Given the description of an element on the screen output the (x, y) to click on. 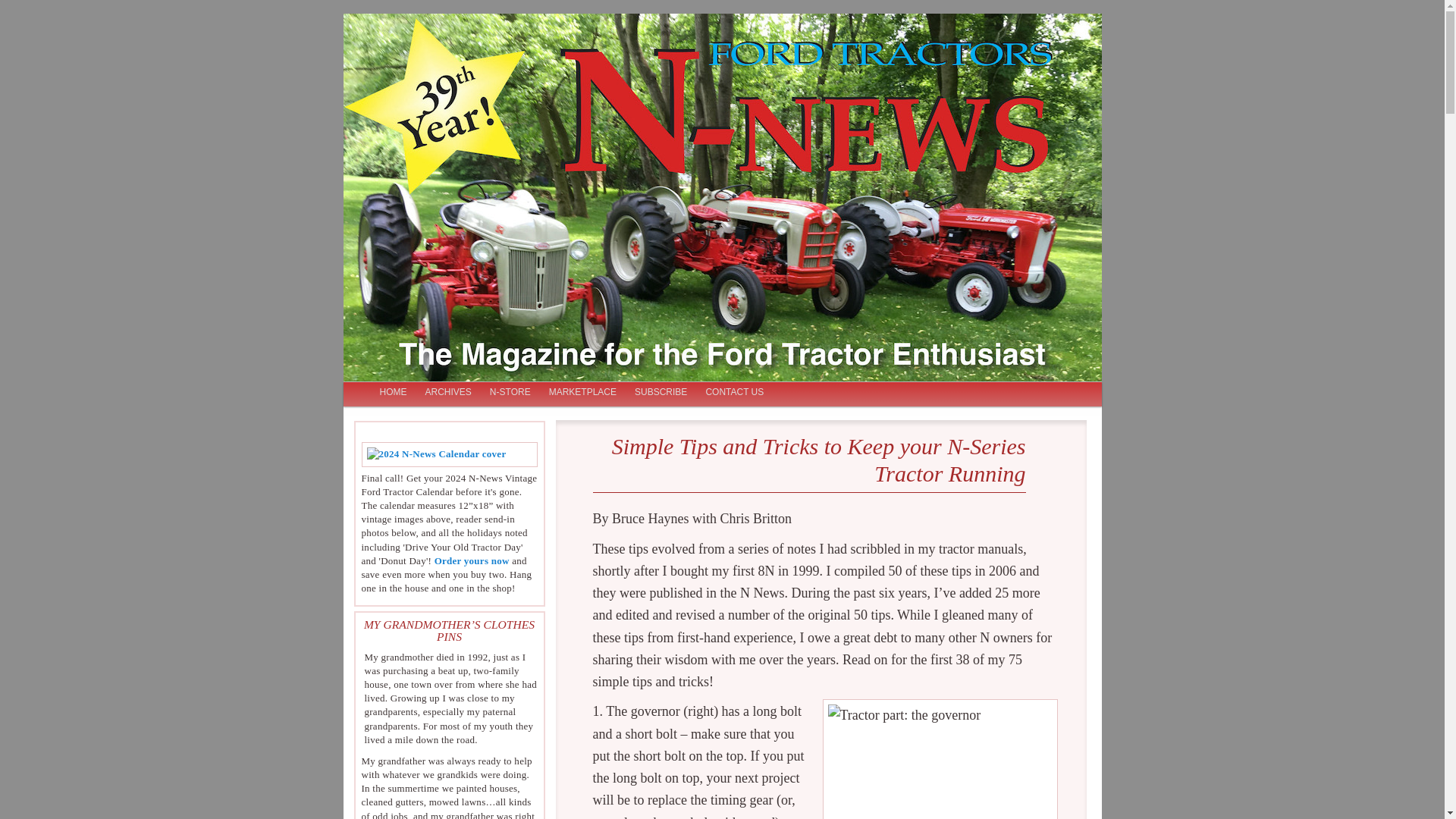
N-STORE (510, 392)
SKIP TO PRIMARY CONTENT (441, 392)
HOME (391, 392)
MARKETPLACE (583, 392)
Order yours now (471, 560)
Search (24, 10)
ARCHIVES (447, 392)
Simple Tips and Tricks to Keep your N-Series Tractor Running (818, 460)
CONTACT US (734, 392)
SUBSCRIBE (660, 392)
N-News (407, 78)
SKIP TO SECONDARY CONTENT (449, 392)
